Given the description of an element on the screen output the (x, y) to click on. 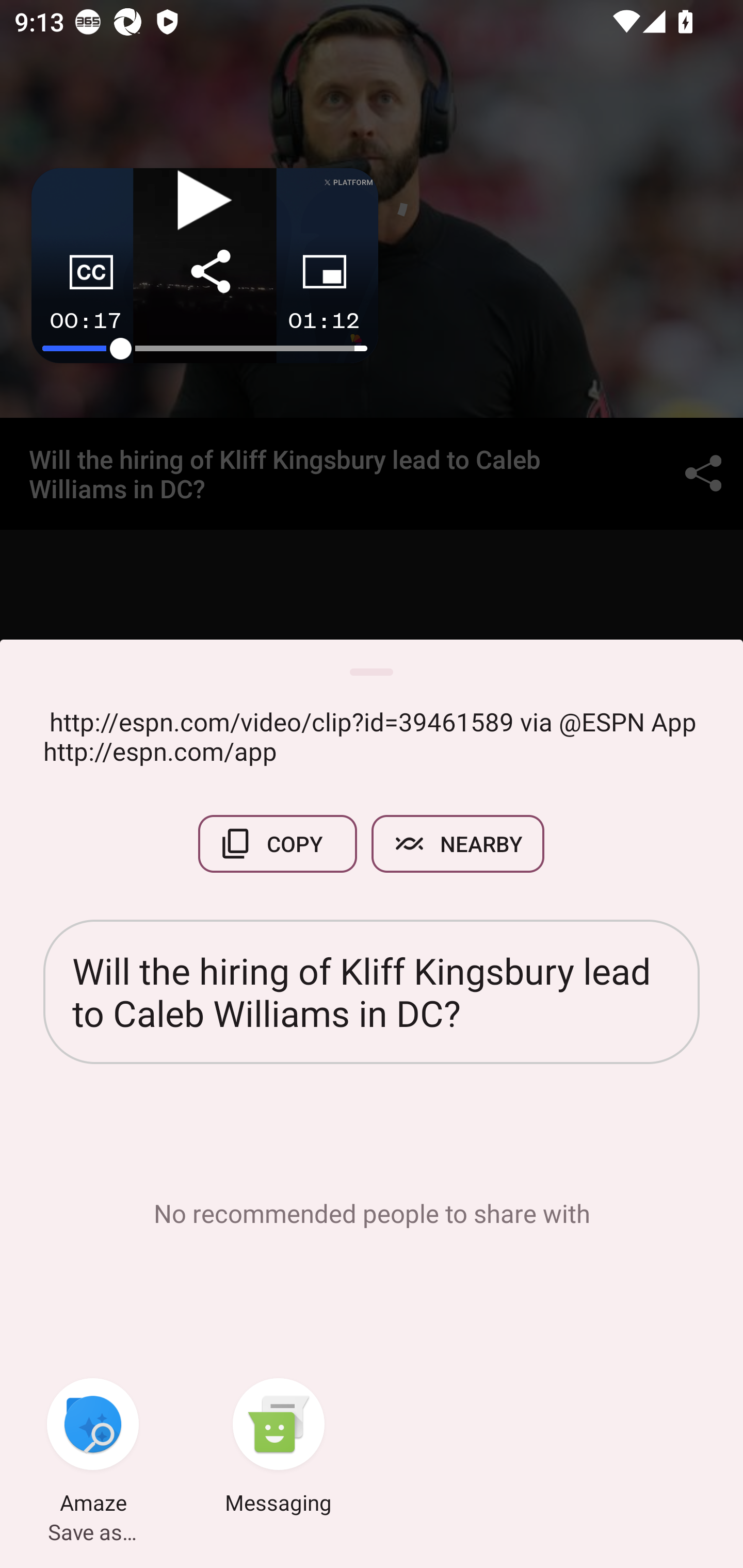
COPY (277, 844)
NEARBY (457, 844)
Amaze Save as… (92, 1448)
Messaging (278, 1448)
